Given the description of an element on the screen output the (x, y) to click on. 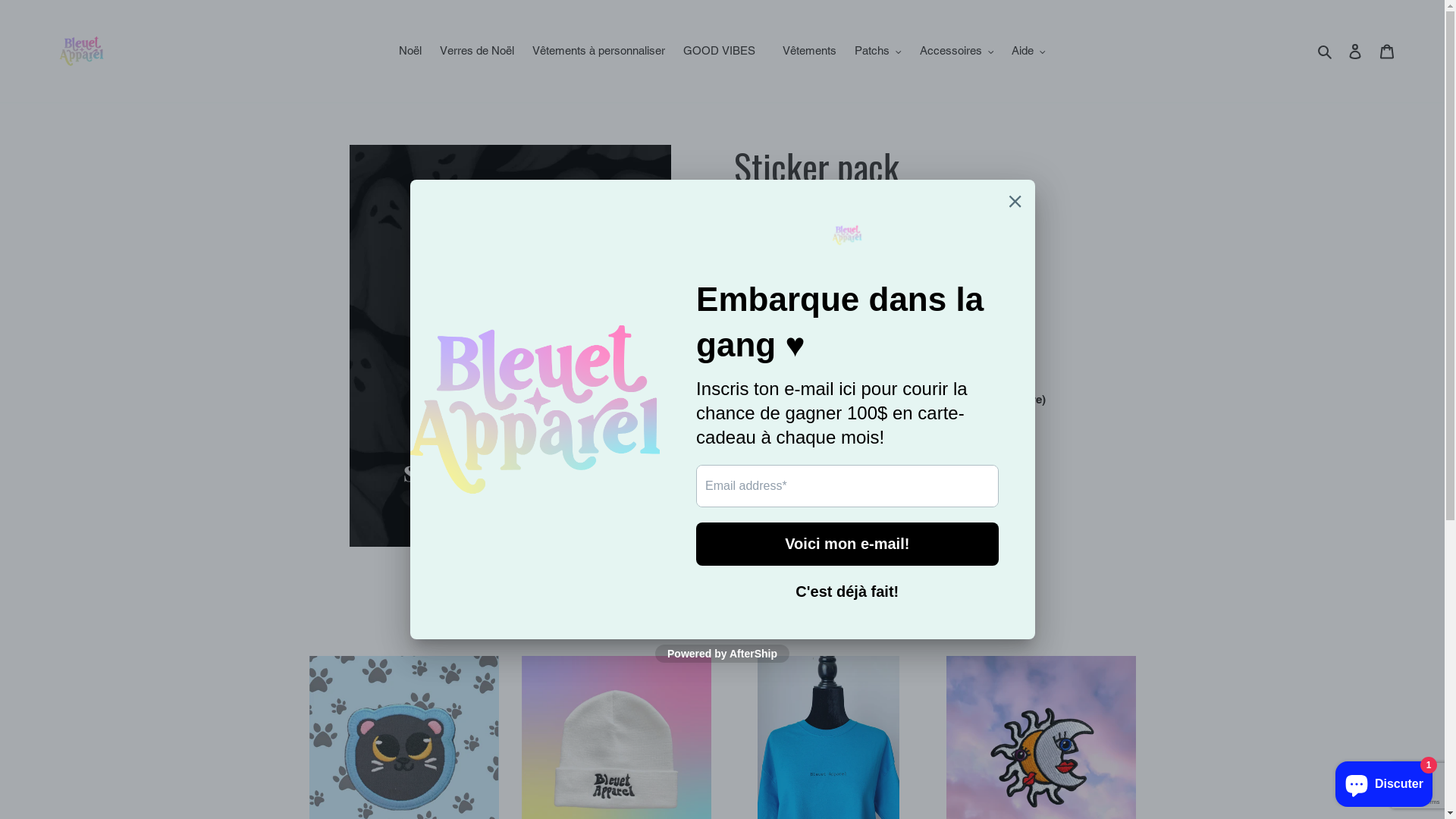
Plus de moyens de paiement Element type: text (884, 367)
Se connecter Element type: text (1355, 50)
TWEETER
TWEETER SUR TWITTER Element type: text (847, 483)
Aide Element type: text (1028, 51)
Chat de la boutique en ligne Shopify Element type: hover (1383, 780)
Panier Element type: text (1386, 50)
Afficher les informations de la boutique Element type: text (839, 436)
AJOUTER AU PANIER Element type: text (884, 289)
PARTAGER
PARTAGER SUR FACEBOOK Element type: text (771, 483)
Patchs Element type: text (878, 51)
Rechercher Element type: text (1325, 50)
Accessoires Element type: text (956, 51)
